Given the description of an element on the screen output the (x, y) to click on. 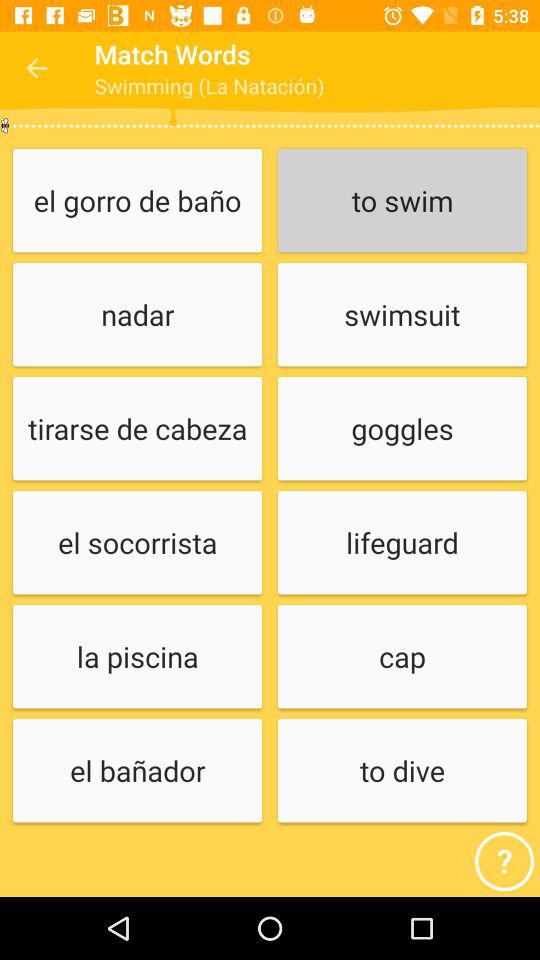
tap item above the nadar (137, 201)
